Given the description of an element on the screen output the (x, y) to click on. 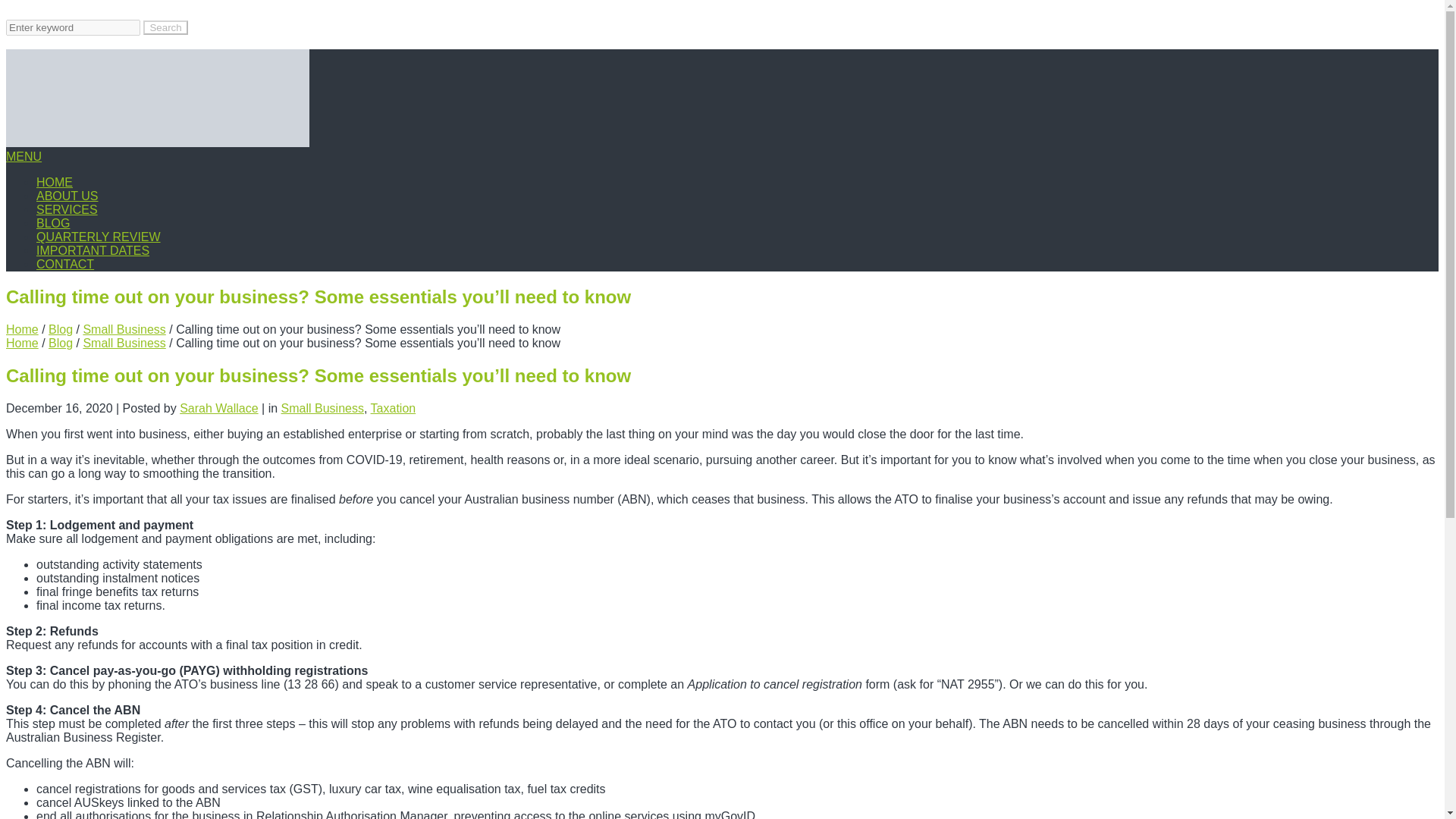
Blog (60, 328)
Go to the Small Business category archives. (123, 328)
Go to Wallace Partners. (22, 342)
Search (164, 27)
Small Business (123, 342)
CONTACT (65, 264)
Blog (60, 342)
Small Business (123, 328)
Go to Blog. (60, 342)
IMPORTANT DATES (92, 250)
